Given the description of an element on the screen output the (x, y) to click on. 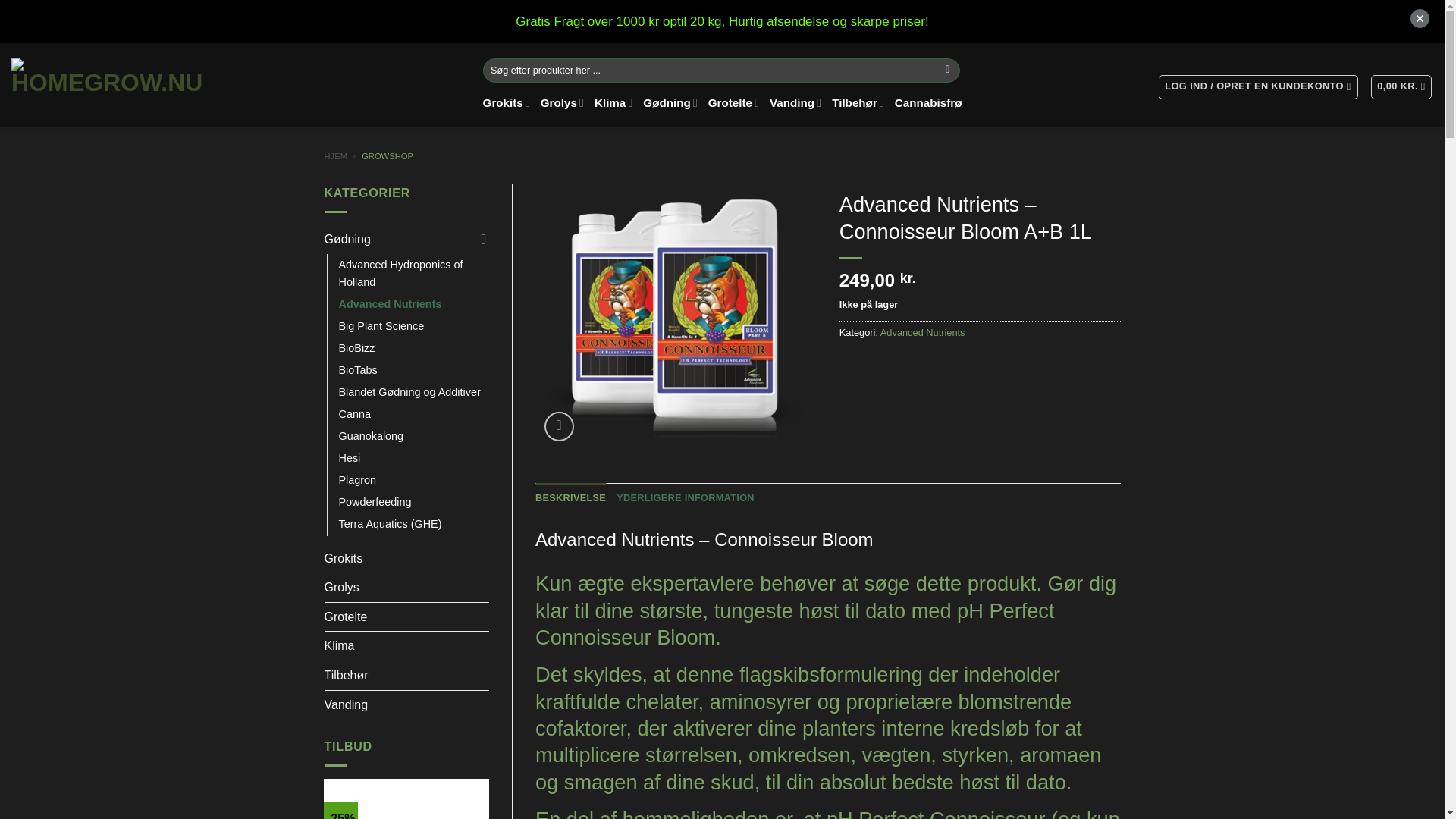
Kurv (1401, 87)
Grotelte (732, 103)
HomeGrow.nu - Gro udstyr til dine behov (109, 82)
Klima (612, 103)
Zoom (558, 426)
Grokits (506, 103)
Grolys (561, 103)
